Given the description of an element on the screen output the (x, y) to click on. 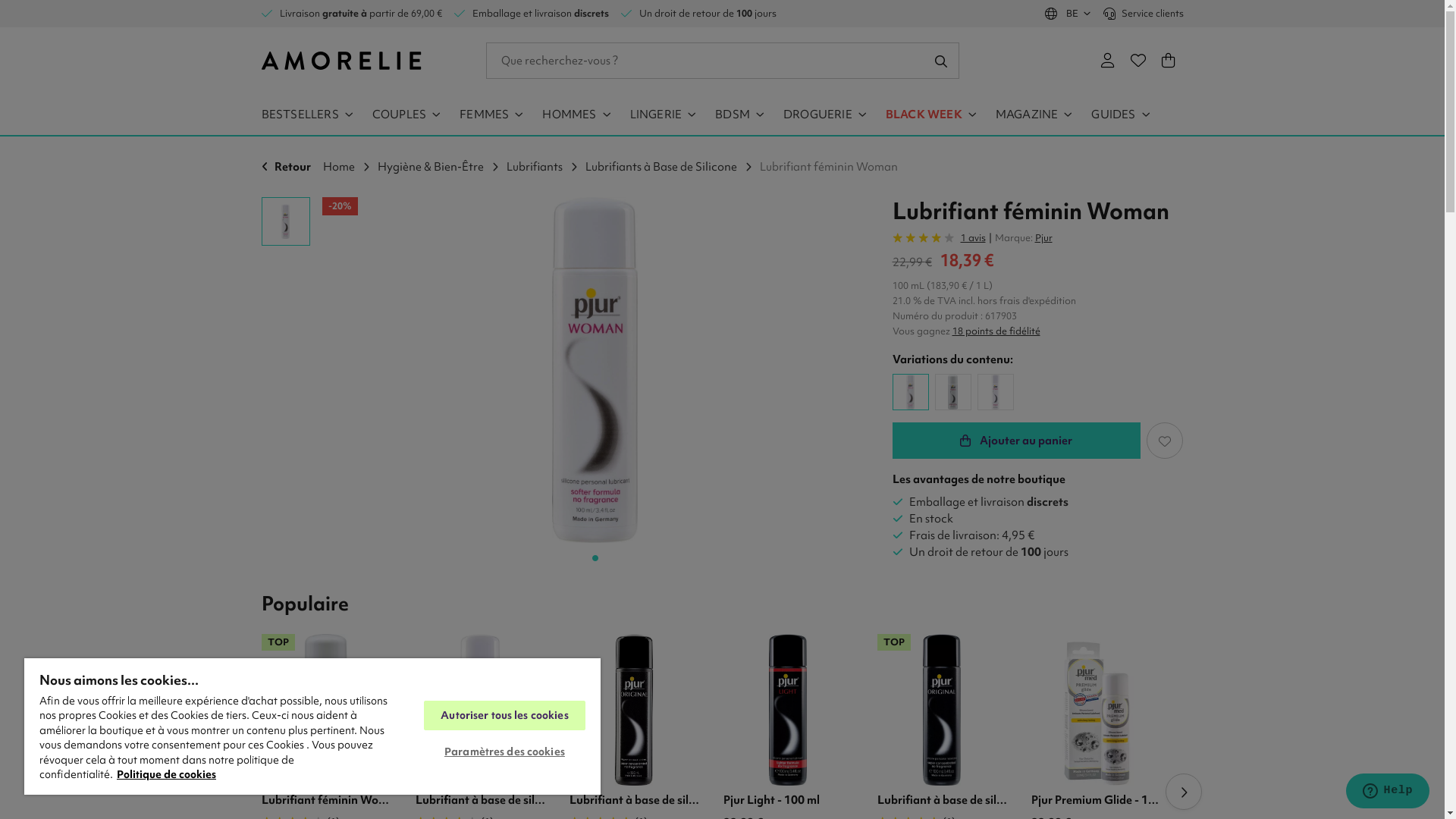
Politique de cookies Element type: text (166, 774)
Ajouter au panier Element type: text (1016, 440)
Lubrifiants Element type: text (544, 166)
TOP Element type: text (325, 709)
Pjur Light - 100 ml Element type: hover (787, 709)
1 avis Element type: text (938, 237)
Autoriser tous les cookies Element type: text (504, 715)
GUIDES Element type: text (1111, 114)
Retour Element type: text (288, 166)
FEMMES Element type: text (482, 114)
MAGAZINE Element type: text (1025, 114)
TOP Element type: text (941, 709)
Service clients Element type: text (1142, 13)
HOMMES Element type: text (567, 114)
Pjur Light - 100 ml Element type: text (788, 799)
TOP Element type: text (1249, 709)
BDSM Element type: text (730, 114)
COUPLES Element type: text (397, 114)
DROGUERIE Element type: text (816, 114)
Home Element type: text (349, 166)
Pjur Element type: text (1042, 237)
Pjur Premium Glide - 100 ml Element type: text (1096, 799)
BESTSELLERS Element type: text (306, 114)
Opens a widget where you can find more information Element type: hover (1387, 792)
LINGERIE Element type: text (654, 114)
Pjur Premium Glide - 100 ml Element type: hover (1095, 709)
BLACK WEEK Element type: text (922, 114)
